Given the description of an element on the screen output the (x, y) to click on. 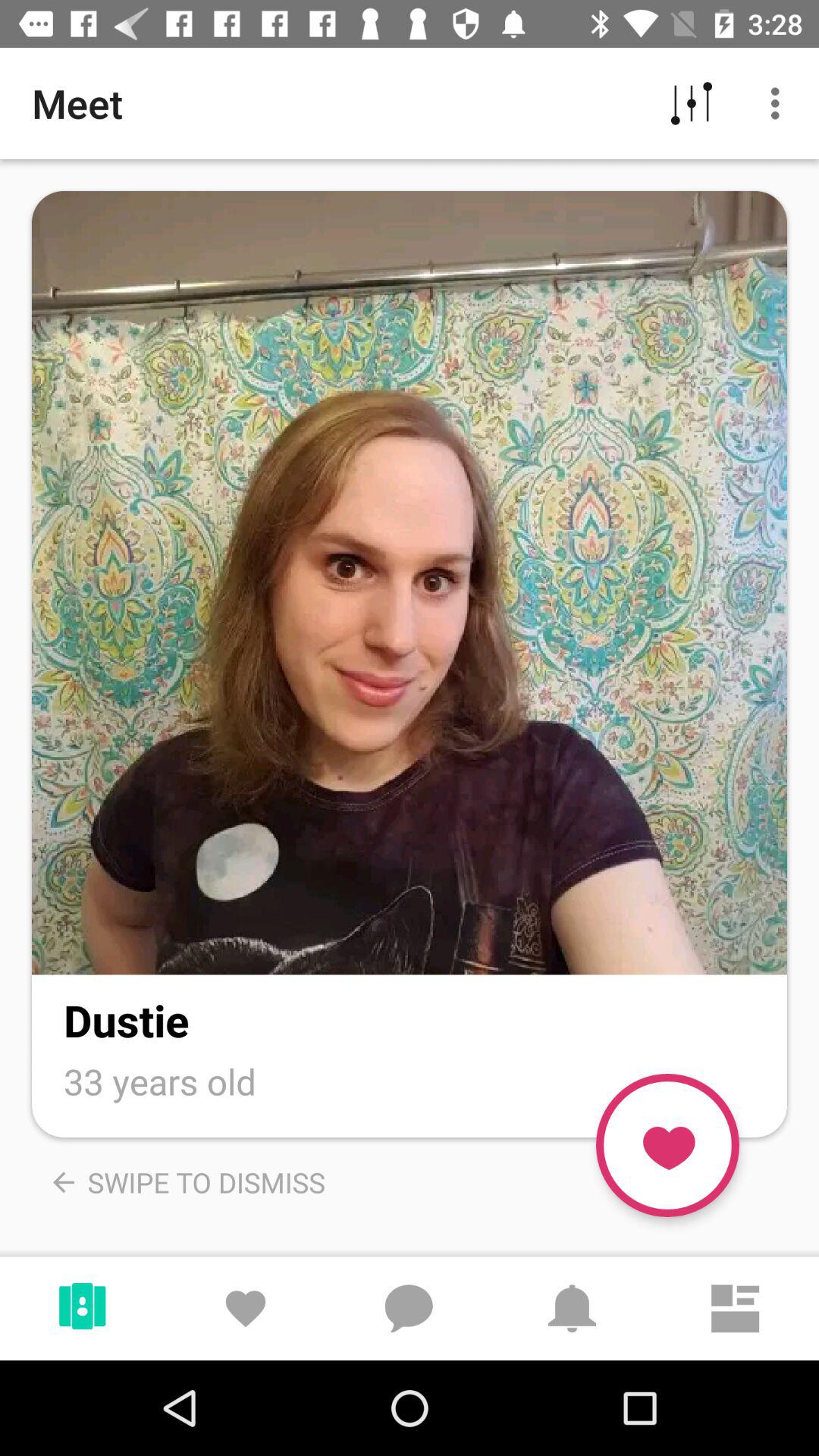
like profile (667, 1145)
